Given the description of an element on the screen output the (x, y) to click on. 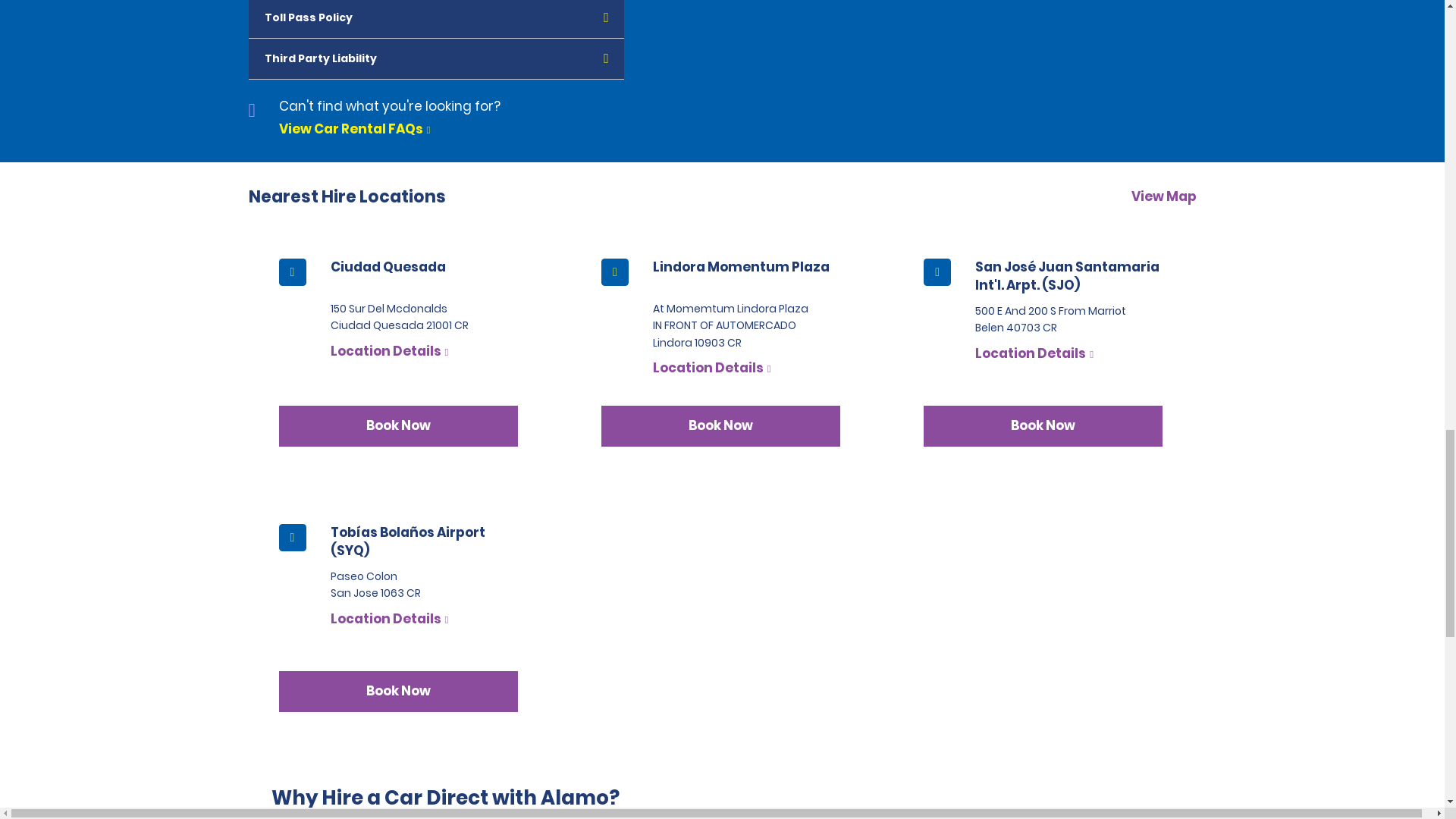
Click to view location details for Lindora Momentum Plaza (711, 367)
Click to view location details for Ciudad Quesada (389, 351)
